Given the description of an element on the screen output the (x, y) to click on. 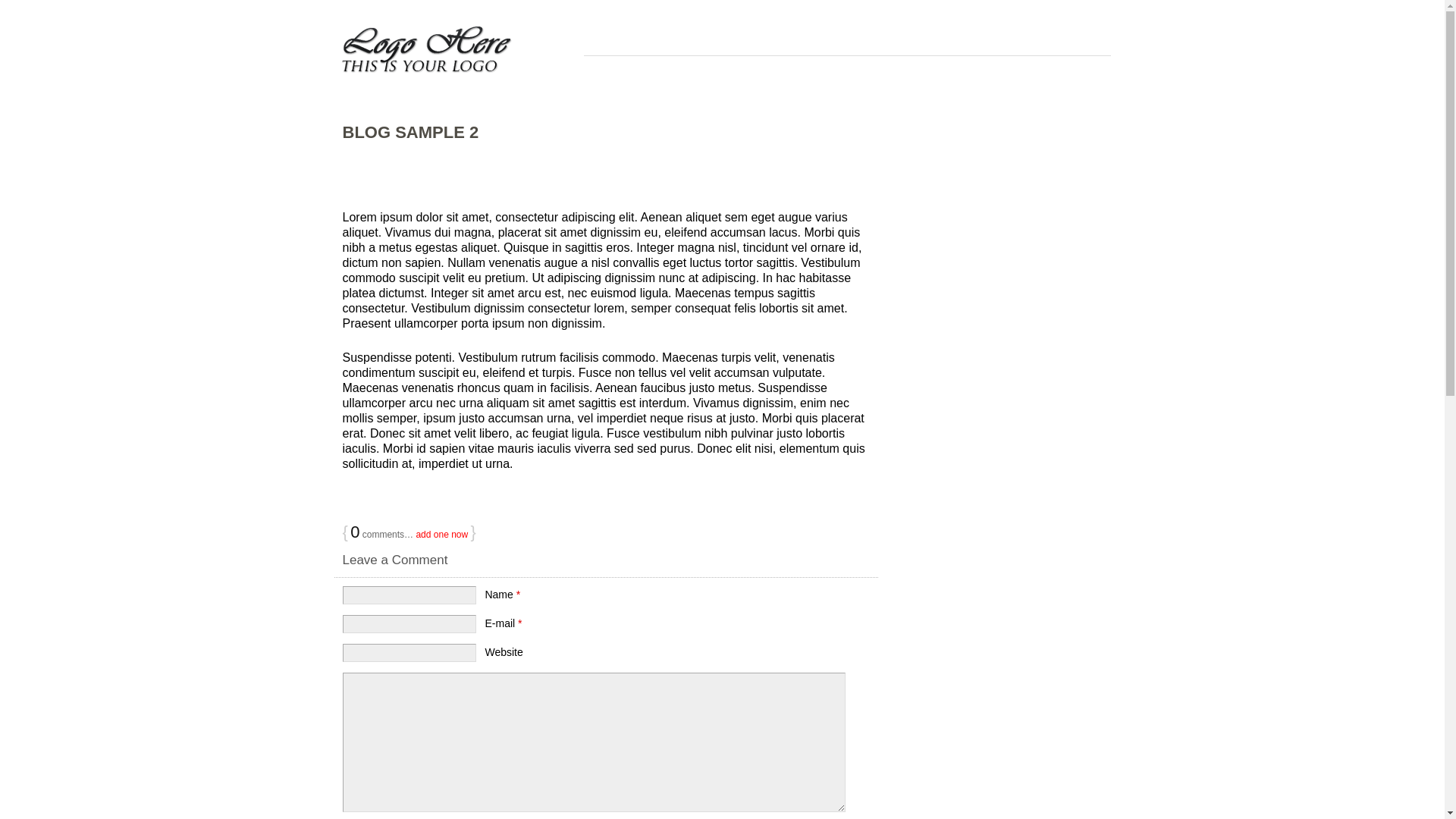
add one now Element type: text (441, 534)
